Given the description of an element on the screen output the (x, y) to click on. 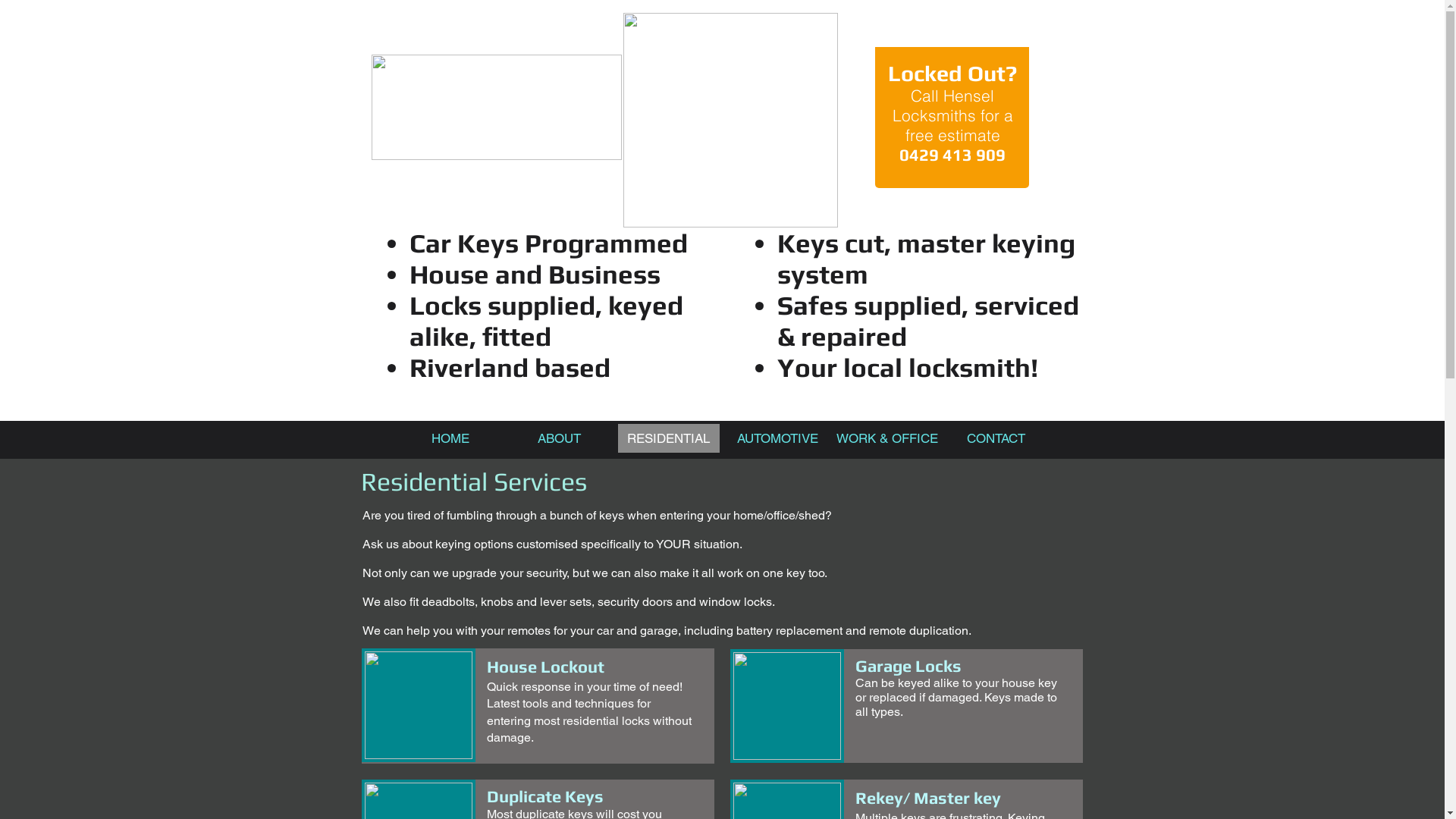
HOME Element type: text (449, 437)
CONTACT Element type: text (995, 437)
ABOUT Element type: text (558, 437)
WORK & OFFICE Element type: text (886, 437)
AUTOMOTIVE Element type: text (777, 437)
RESIDENTIAL Element type: text (667, 437)
